Given the description of an element on the screen output the (x, y) to click on. 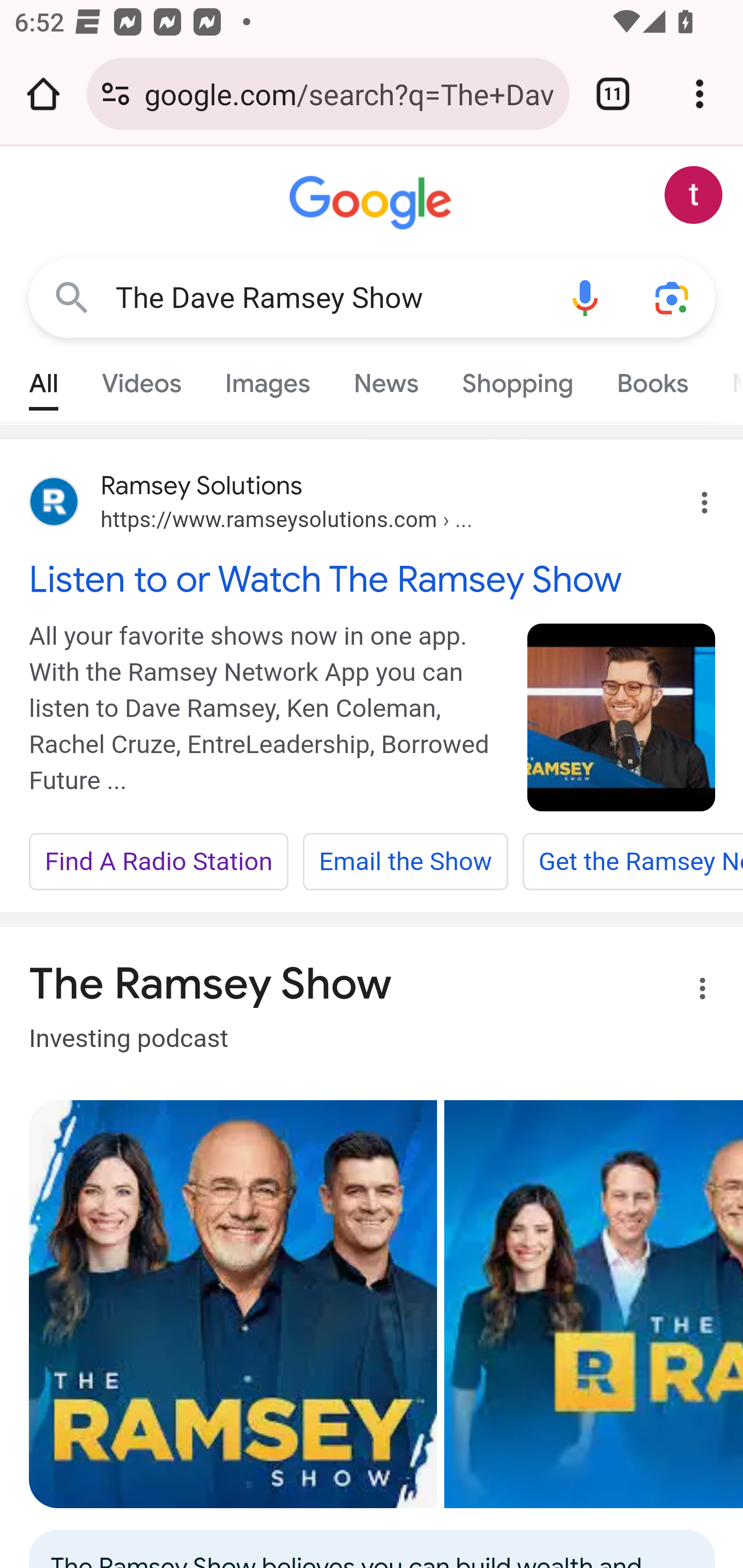
Open the home page (43, 93)
Connection is secure (115, 93)
Switch or close tabs (612, 93)
Customize and control Google Chrome (699, 93)
Google (372, 203)
Google Search (71, 296)
Search using your camera or photos (672, 296)
The Dave Ramsey Show (328, 297)
Videos (141, 378)
Images (267, 378)
News (385, 378)
Shopping (516, 378)
Books (652, 378)
Listen to or Watch The Ramsey Show (372, 579)
the-ramsey-show (621, 717)
Find A Radio Station (158, 862)
Email the Show (404, 862)
Get the Ramsey Network App (632, 862)
More options (690, 991)
Ramsey Network - Ramsey (233, 1303)
The Ramsey Show - KXRO News Radio (593, 1303)
